Given the description of an element on the screen output the (x, y) to click on. 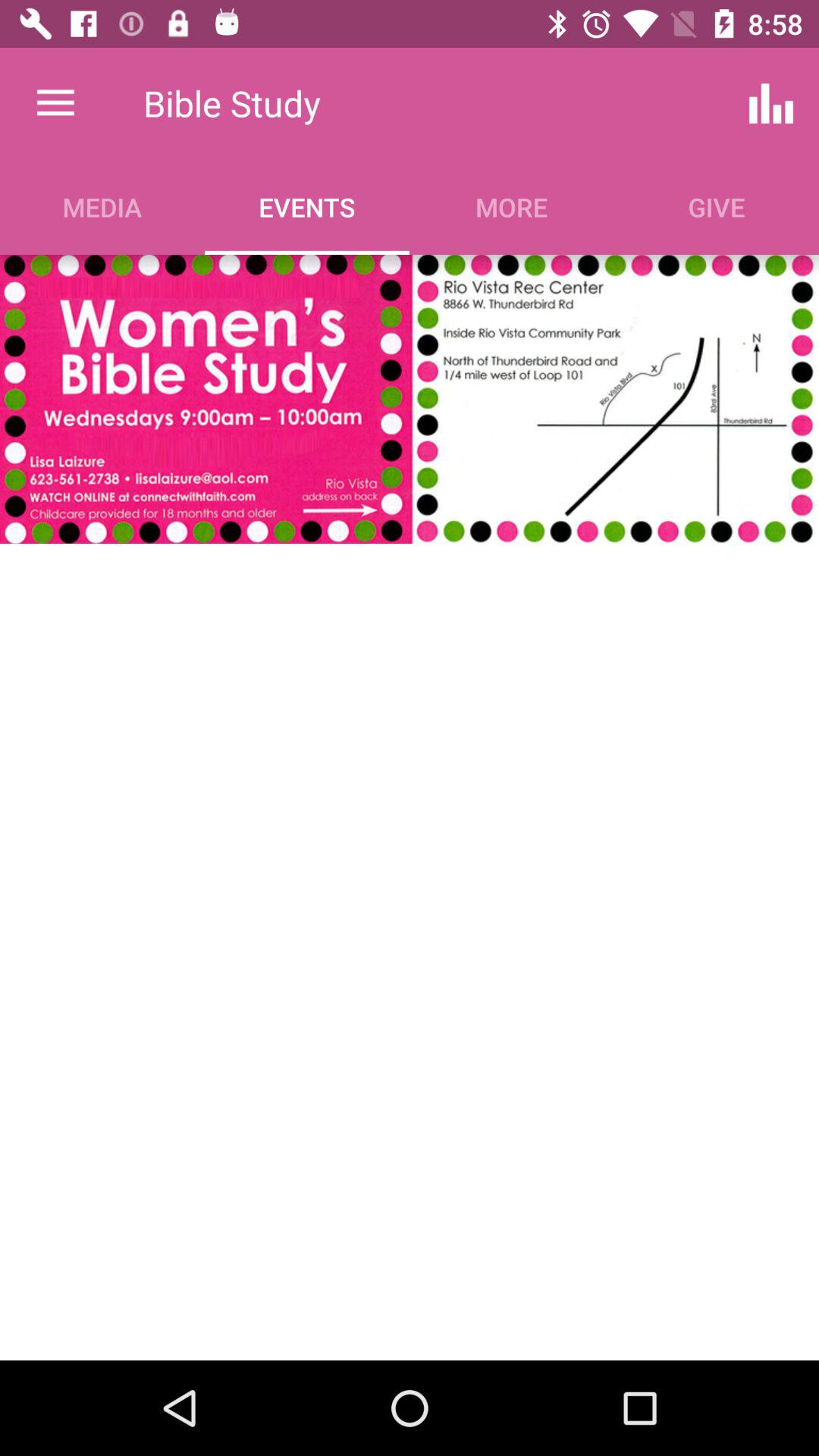
turn off item to the right of more (771, 103)
